Given the description of an element on the screen output the (x, y) to click on. 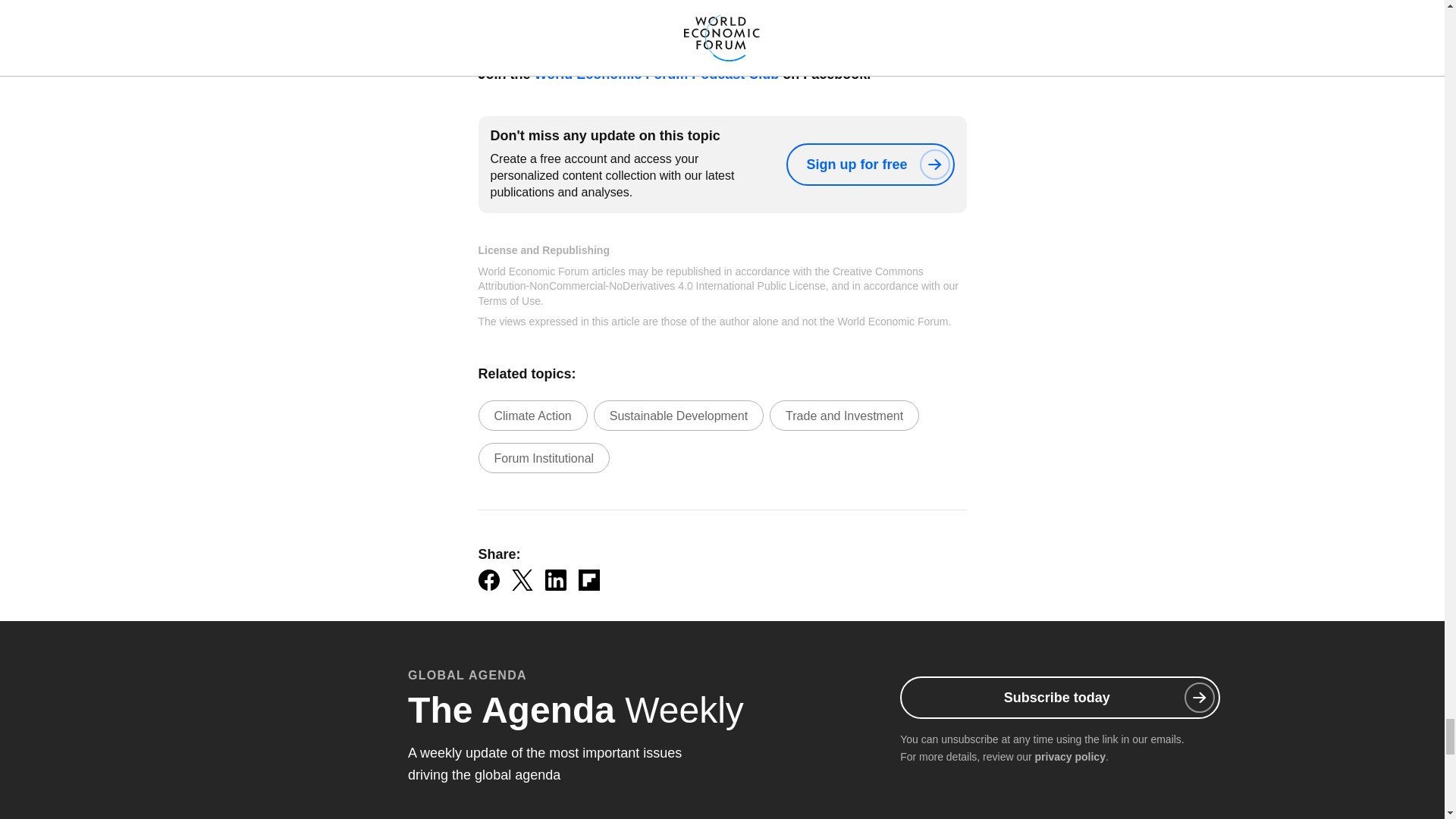
Radio Davos (593, 34)
Climate Action (531, 415)
Book Club (789, 34)
Sign up for free (869, 164)
Agenda Dialogues (890, 34)
here (633, 1)
Meet the Leader (695, 34)
World Economic Forum Podcast Club (656, 73)
